Given the description of an element on the screen output the (x, y) to click on. 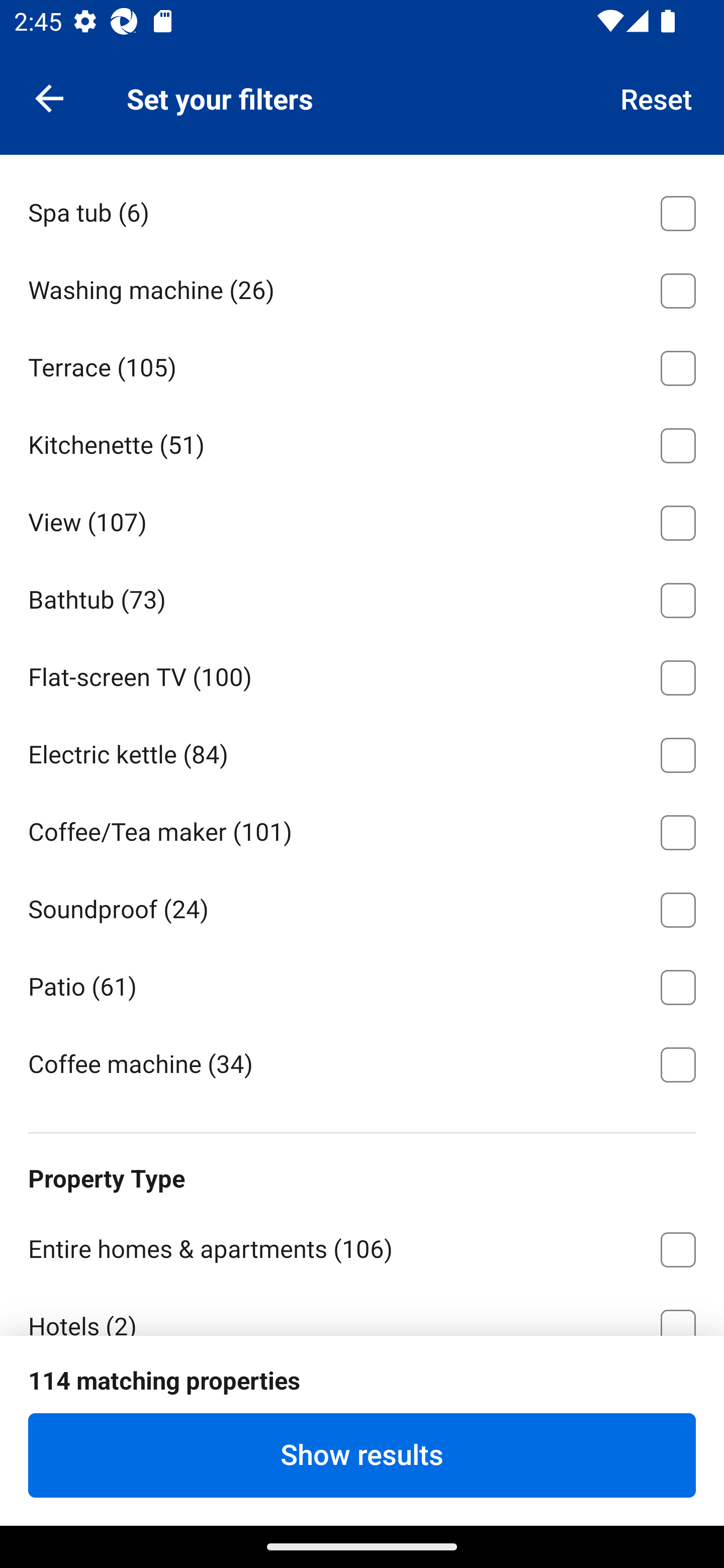
Navigate up (49, 97)
Reset (656, 97)
Spa tub ⁦(6) (361, 209)
Washing machine ⁦(26) (361, 287)
Terrace ⁦(105) (361, 364)
Kitchenette ⁦(51) (361, 441)
View ⁦(107) (361, 519)
Bathtub ⁦(73) (361, 596)
Flat-screen TV ⁦(100) (361, 674)
Electric kettle ⁦(84) (361, 751)
Coffee/Tea maker ⁦(101) (361, 829)
Soundproof ⁦(24) (361, 906)
Patio ⁦(61) (361, 983)
Coffee machine ⁦(34) (361, 1062)
Entire homes & apartments ⁦(106) (361, 1246)
Hotels ⁦(2) (361, 1310)
Apartments ⁦(4) (361, 1400)
Show results (361, 1454)
Vacation Homes ⁦(1) (361, 1478)
Villas ⁦(85) (361, 1542)
